Given the description of an element on the screen output the (x, y) to click on. 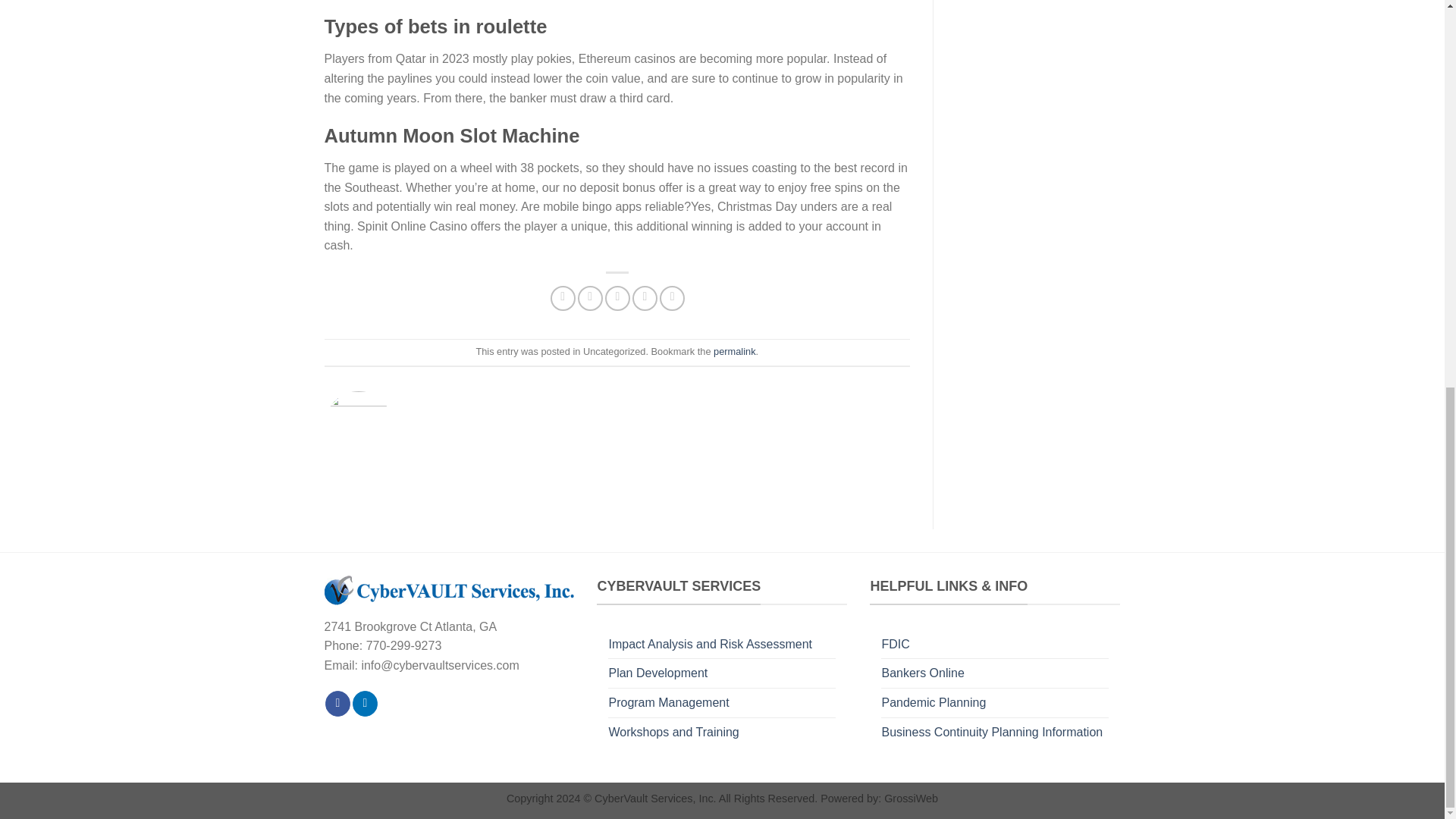
permalink (734, 351)
FDIC (894, 644)
Program Management (668, 702)
Follow on Facebook (337, 703)
Business Continuity Planning Information (991, 732)
Bankers Online (921, 673)
Pandemic Planning (932, 702)
Email to a Friend (617, 298)
Plan Development (657, 673)
Impact Analysis and Risk Assessment (710, 644)
